Given the description of an element on the screen output the (x, y) to click on. 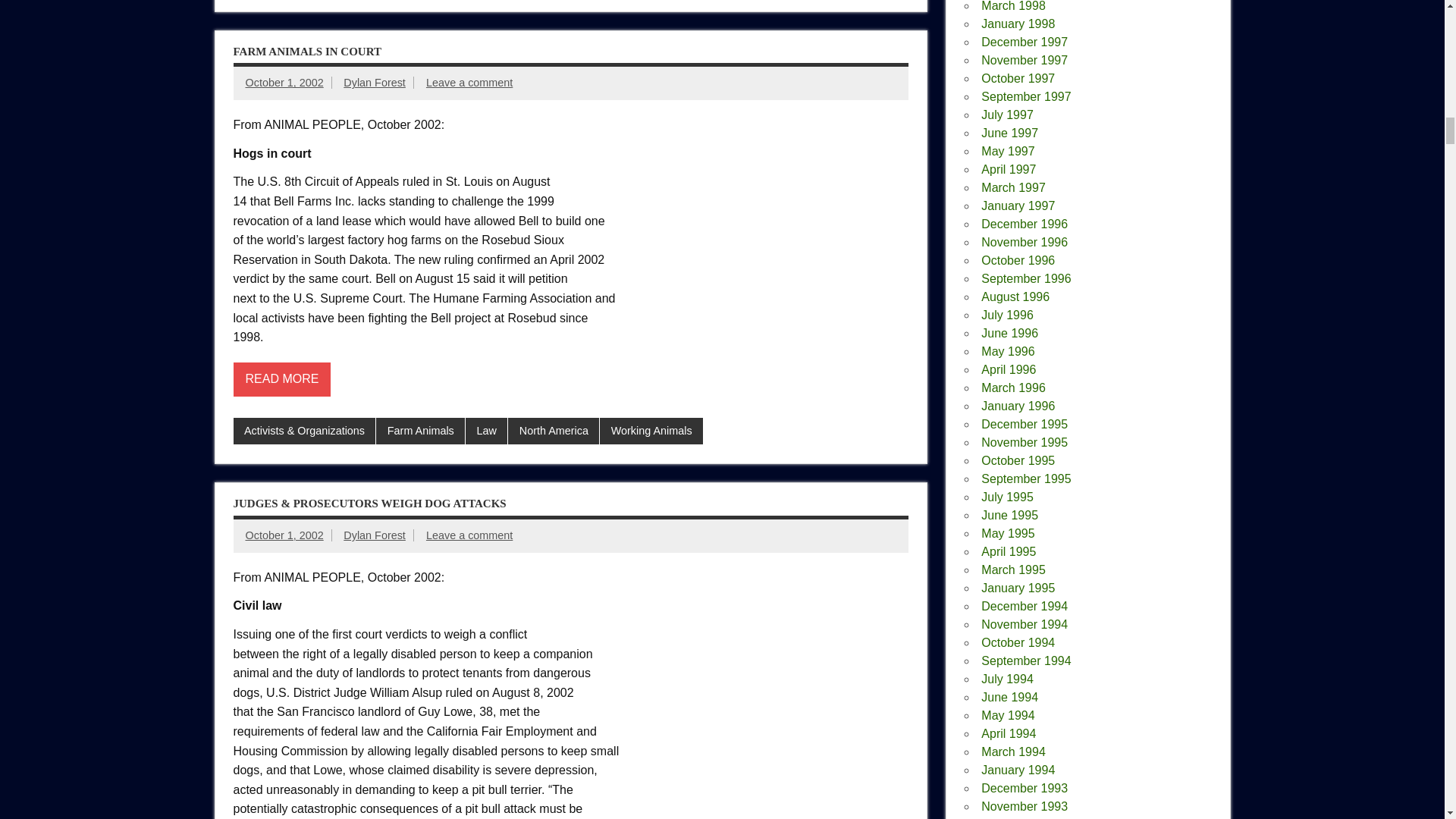
View all posts by Dylan Forest (374, 82)
6:48 pm (284, 82)
6:45 pm (284, 535)
View all posts by Dylan Forest (374, 535)
